Given the description of an element on the screen output the (x, y) to click on. 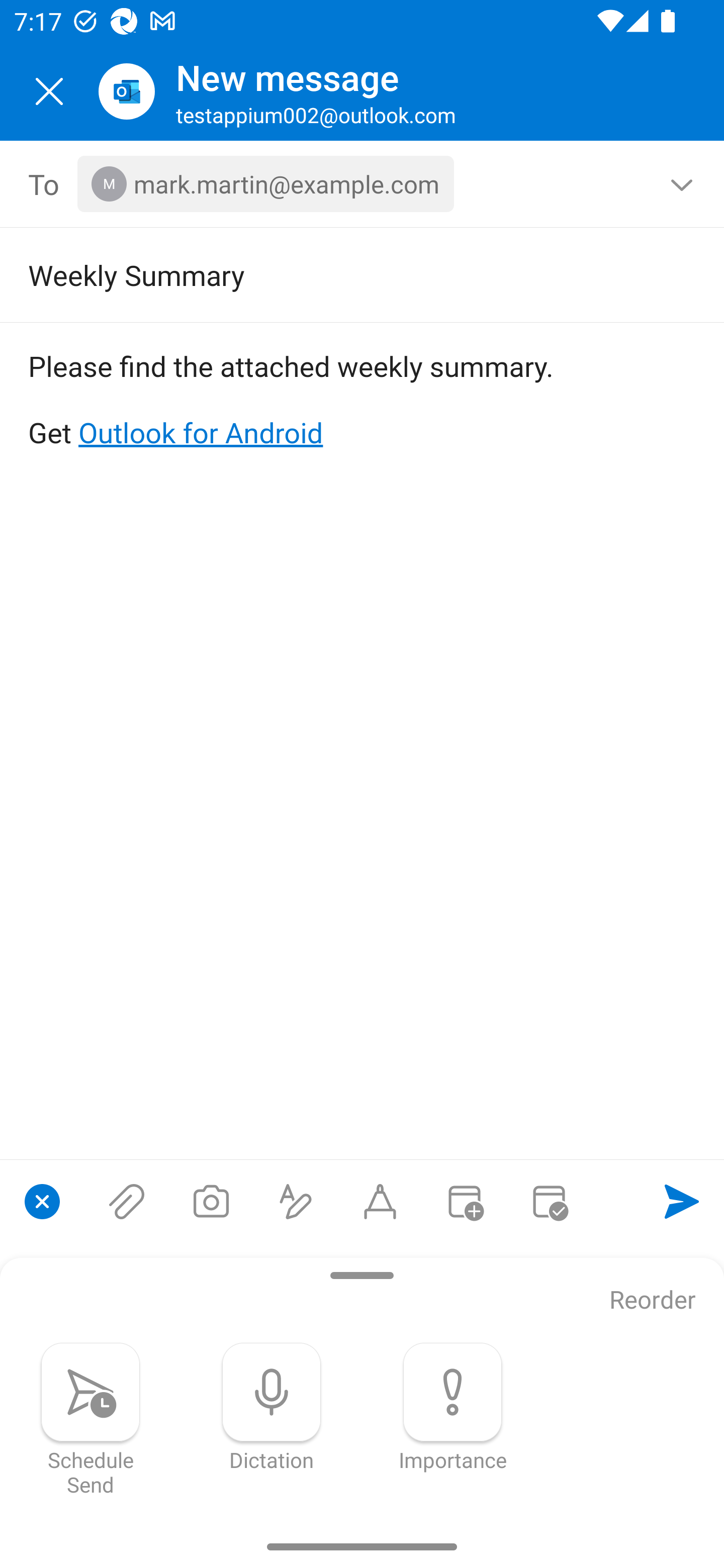
Close (49, 91)
To, 1 recipient <mark.martin@example.com> (362, 184)
Weekly Summary (333, 274)
Close compose options (42, 1200)
Attach files (126, 1200)
Take a photo (210, 1200)
Show formatting options (295, 1200)
Start Ink compose (380, 1200)
Convert to event (464, 1200)
Send availability (548, 1200)
Send (681, 1200)
Reorder (652, 1300)
Schedule Send (90, 1419)
Dictation (271, 1406)
Importance (452, 1406)
